Given the description of an element on the screen output the (x, y) to click on. 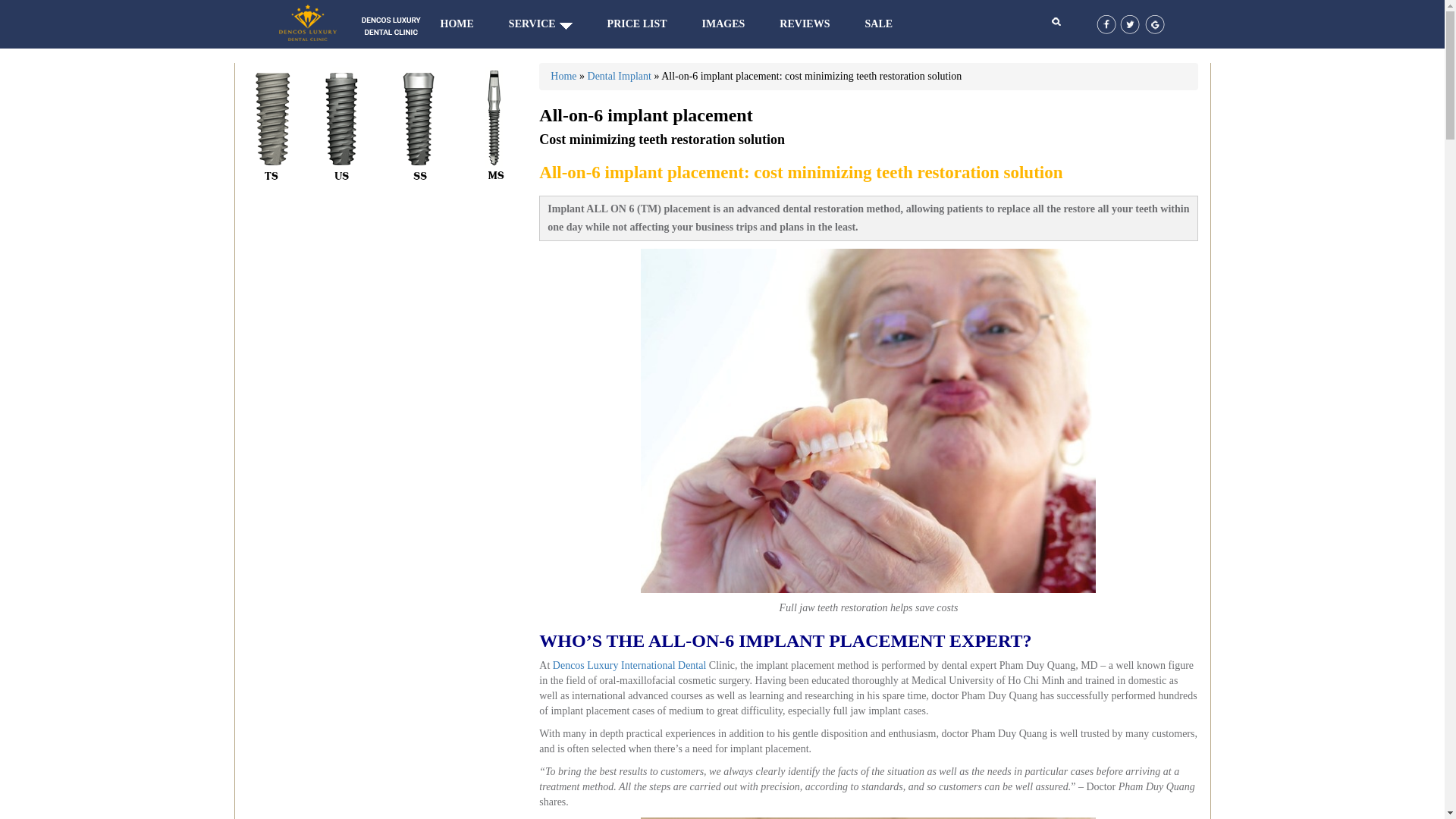
PRICE LIST (636, 23)
Dencos Luxury International Dental (629, 665)
Dental Implant (619, 75)
IMAGES (723, 23)
HOME (456, 23)
Home (563, 75)
SERVICE (532, 23)
REVIEWS (803, 23)
SALE (878, 23)
